Given the description of an element on the screen output the (x, y) to click on. 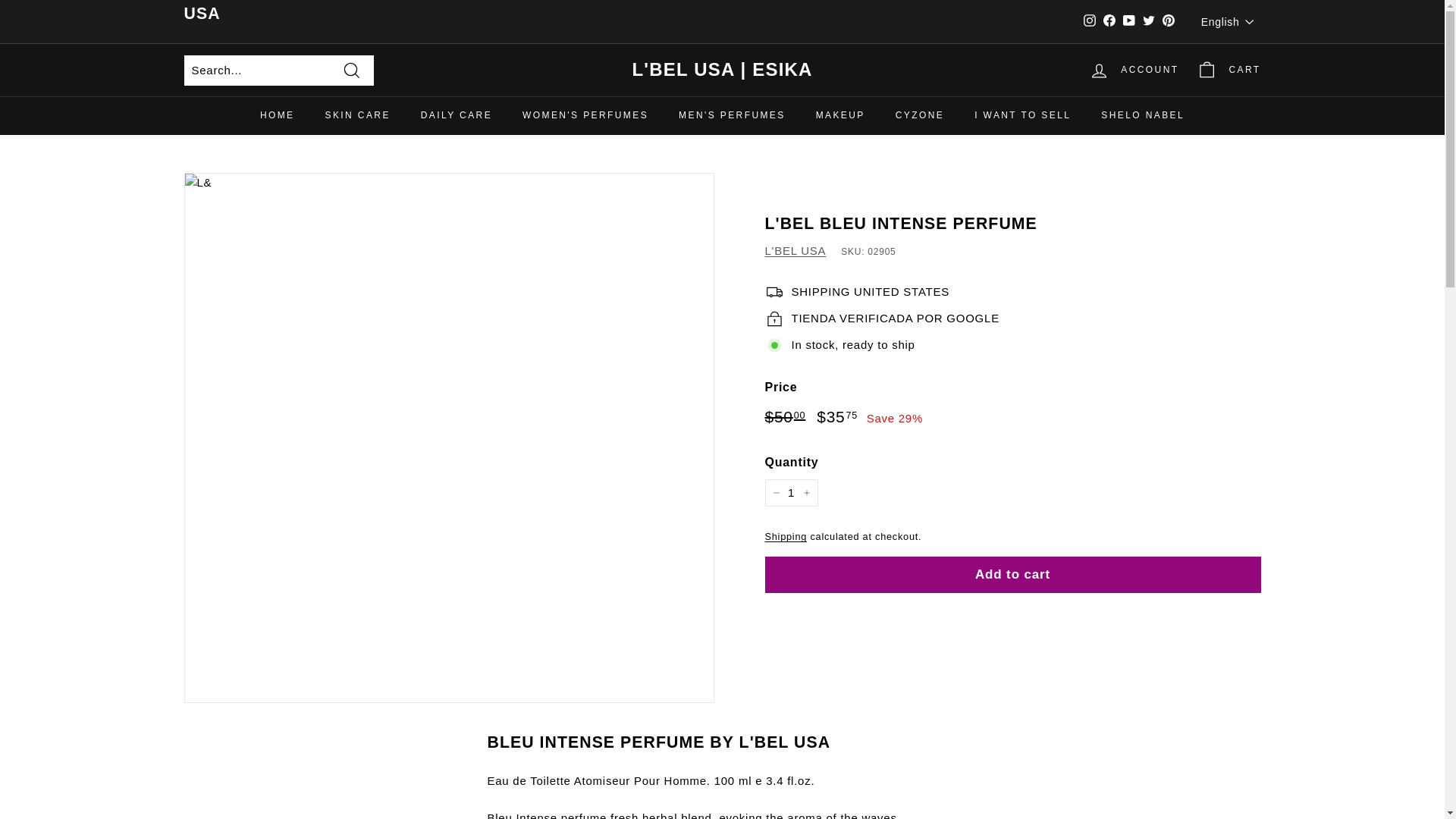
CYZONE (919, 115)
MEN'S PERFUMES (731, 115)
MAKEUP (840, 115)
English (1230, 21)
HOME (277, 115)
L'BEL USA (794, 250)
WOMEN'S PERFUMES (584, 115)
I WANT TO SELL (1022, 115)
SHELO NABEL (1142, 115)
DAILY CARE (456, 115)
ACCOUNT (1134, 69)
1 (790, 492)
SKIN CARE (356, 115)
